Given the description of an element on the screen output the (x, y) to click on. 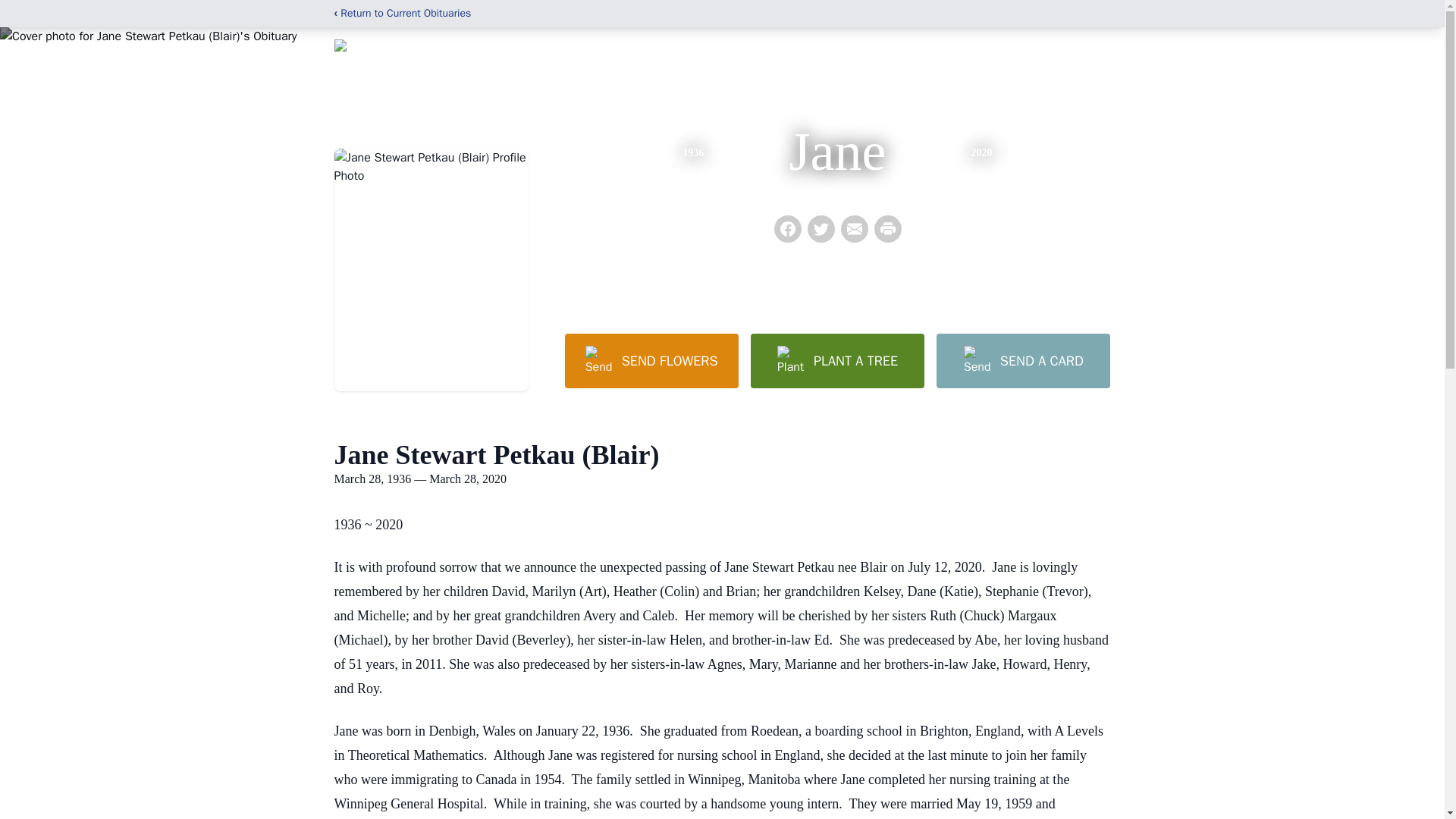
PLANT A TREE (837, 360)
SEND FLOWERS (651, 360)
SEND A CARD (1022, 360)
